Given the description of an element on the screen output the (x, y) to click on. 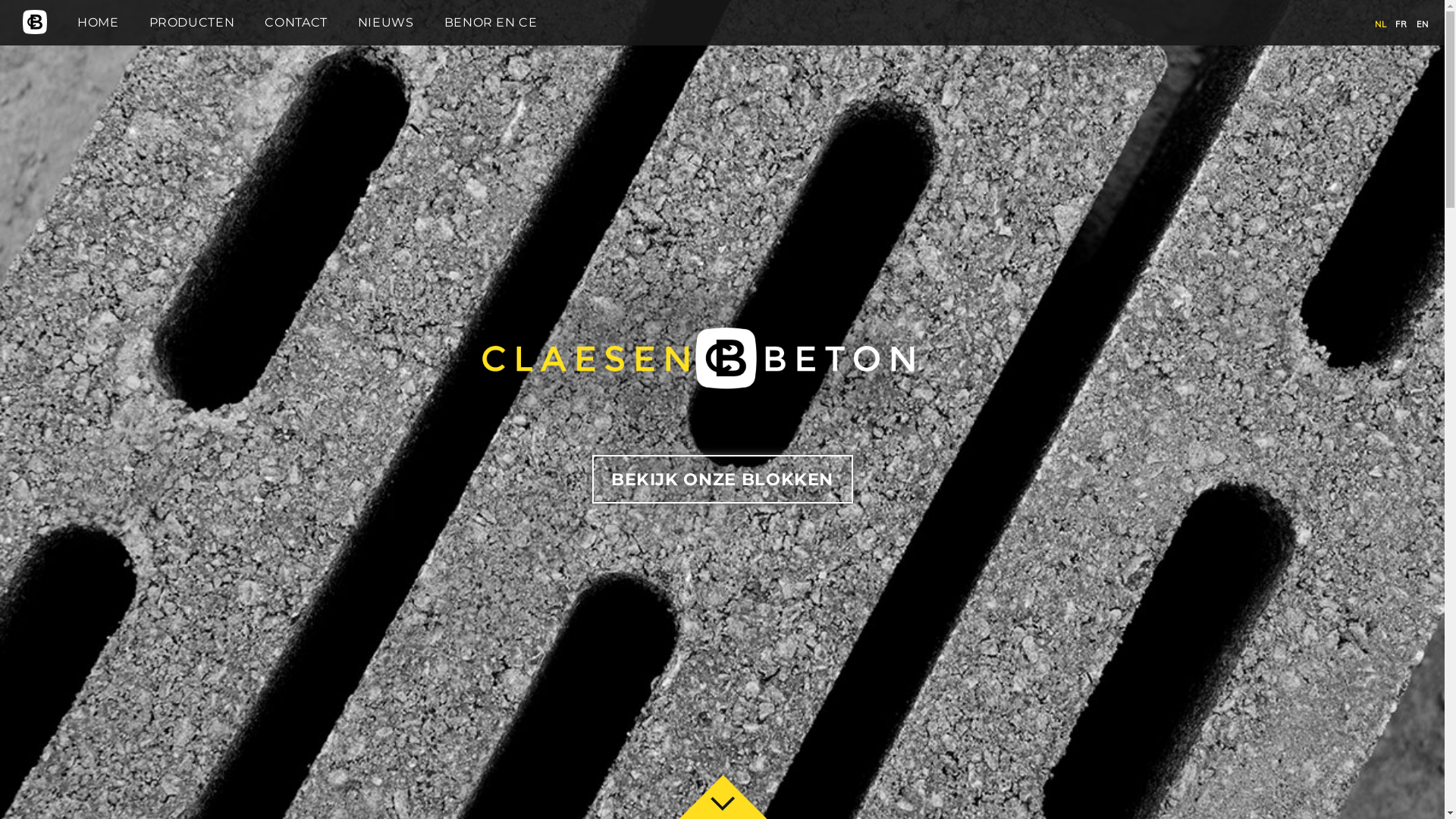
EN Element type: text (1422, 23)
FR Element type: text (1400, 23)
BENOR EN CE Element type: text (490, 22)
BEKIJK ONZE BLOKKEN Element type: text (721, 479)
PRODUCTEN Element type: text (192, 22)
CONTACT Element type: text (295, 22)
HOME Element type: text (98, 22)
NIEUWS Element type: text (385, 22)
NL Element type: text (1380, 23)
